Given the description of an element on the screen output the (x, y) to click on. 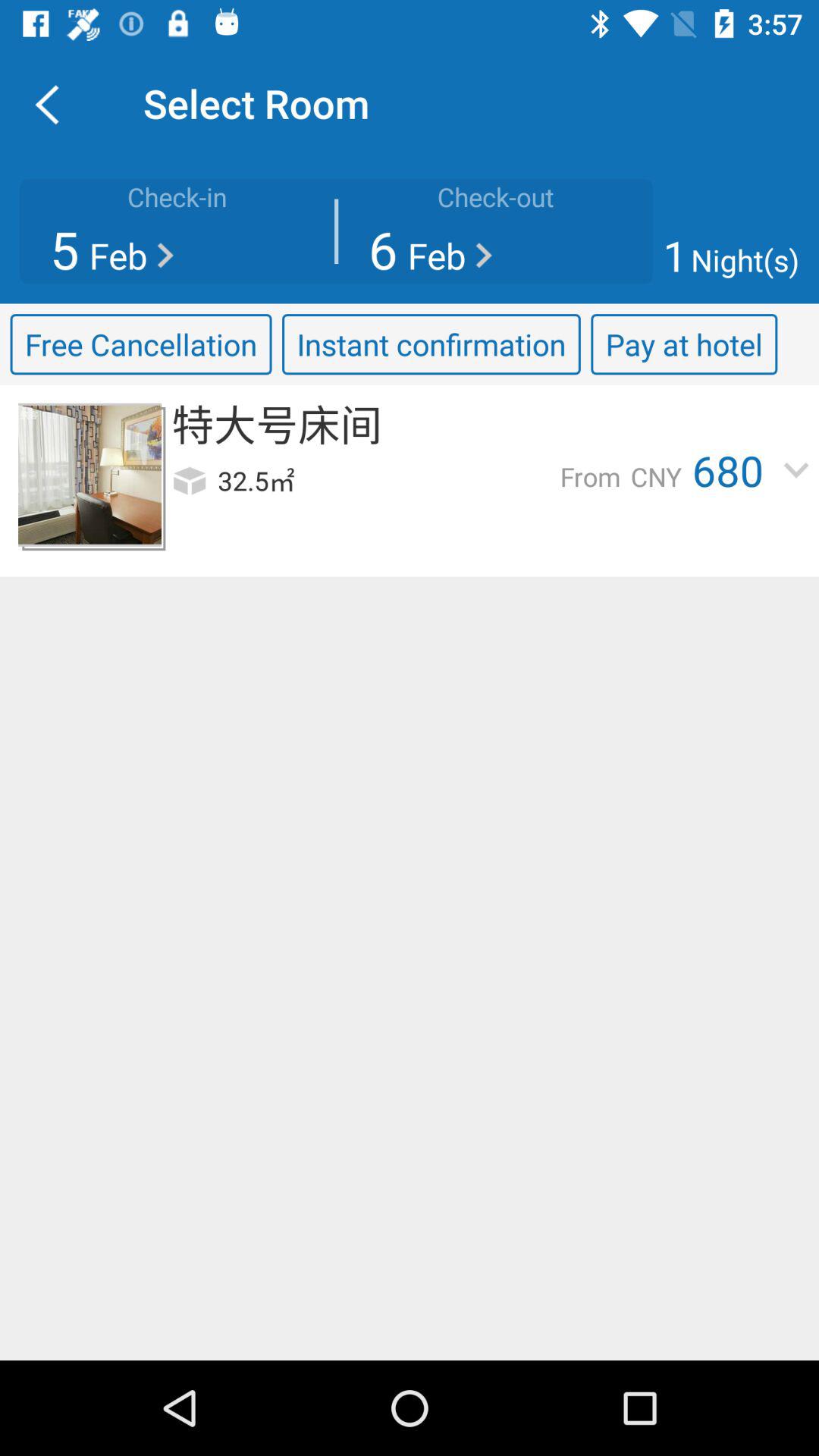
press icon to the left of the pay at hotel icon (431, 343)
